Given the description of an element on the screen output the (x, y) to click on. 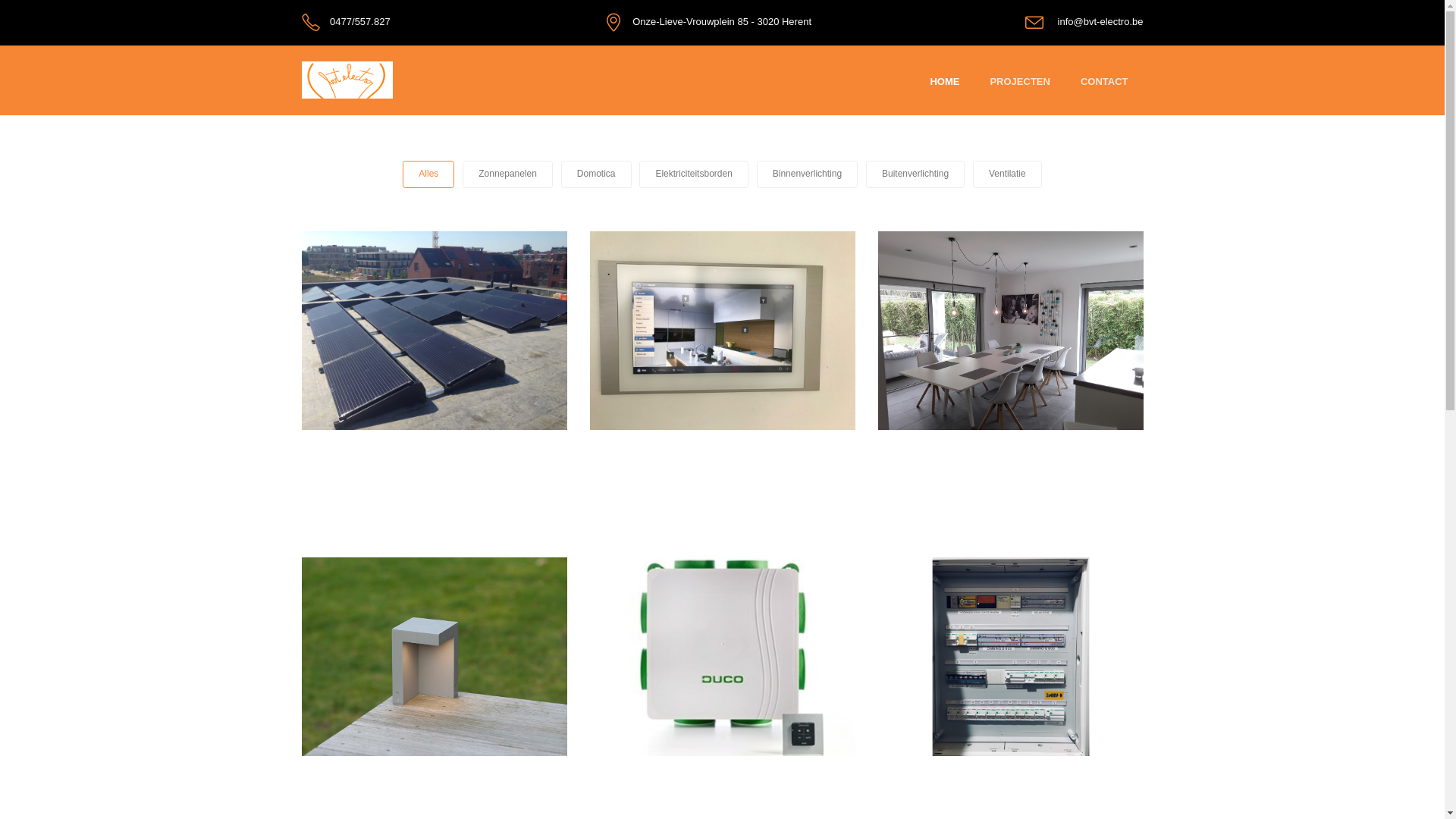
PROJECTEN Element type: text (1019, 82)
info@bvt-electro.be Element type: text (1100, 21)
CONTACT Element type: text (1104, 82)
HOME
(CURRENT) Element type: text (944, 82)
